Given the description of an element on the screen output the (x, y) to click on. 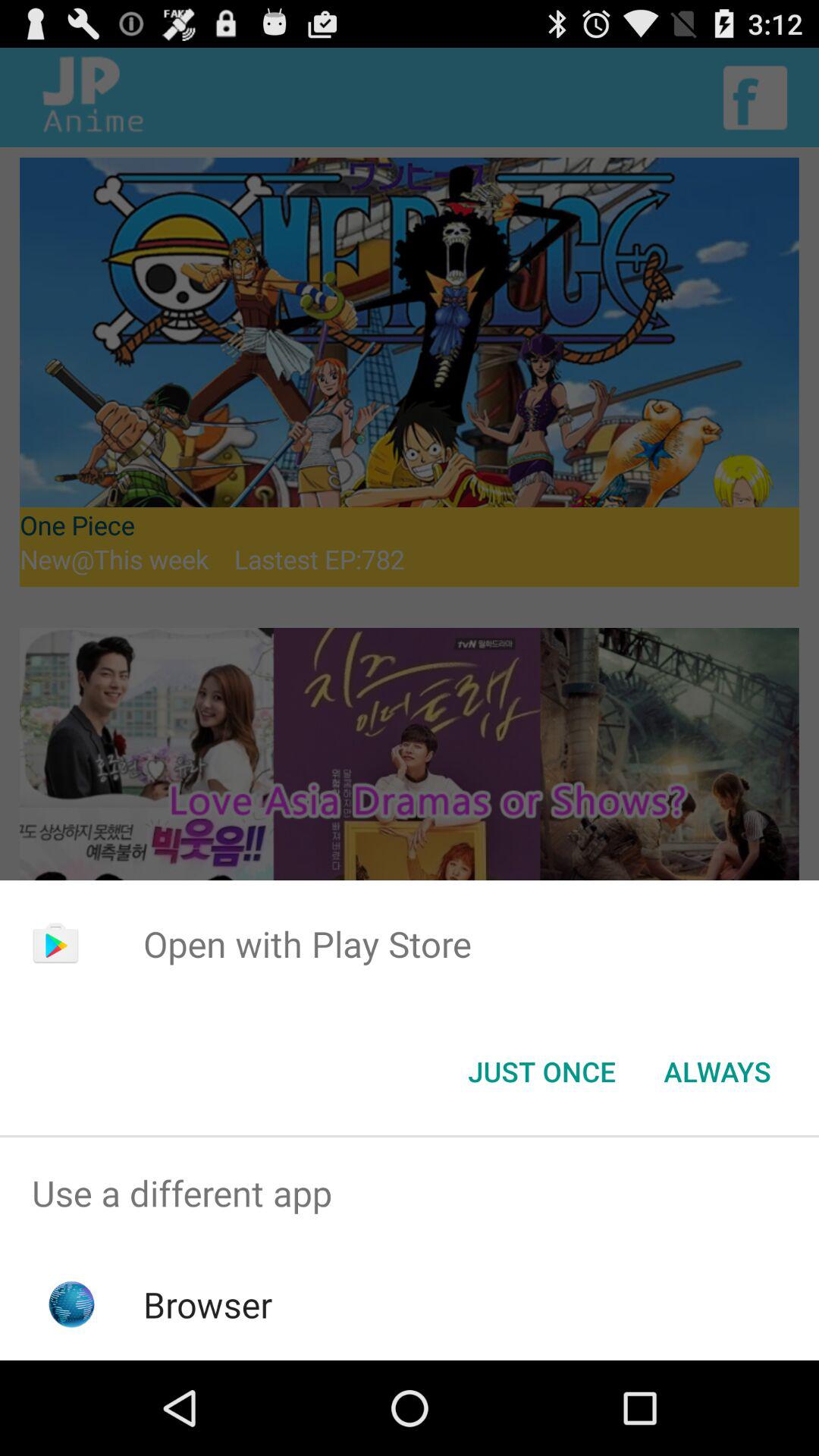
choose button to the left of the always (541, 1071)
